Given the description of an element on the screen output the (x, y) to click on. 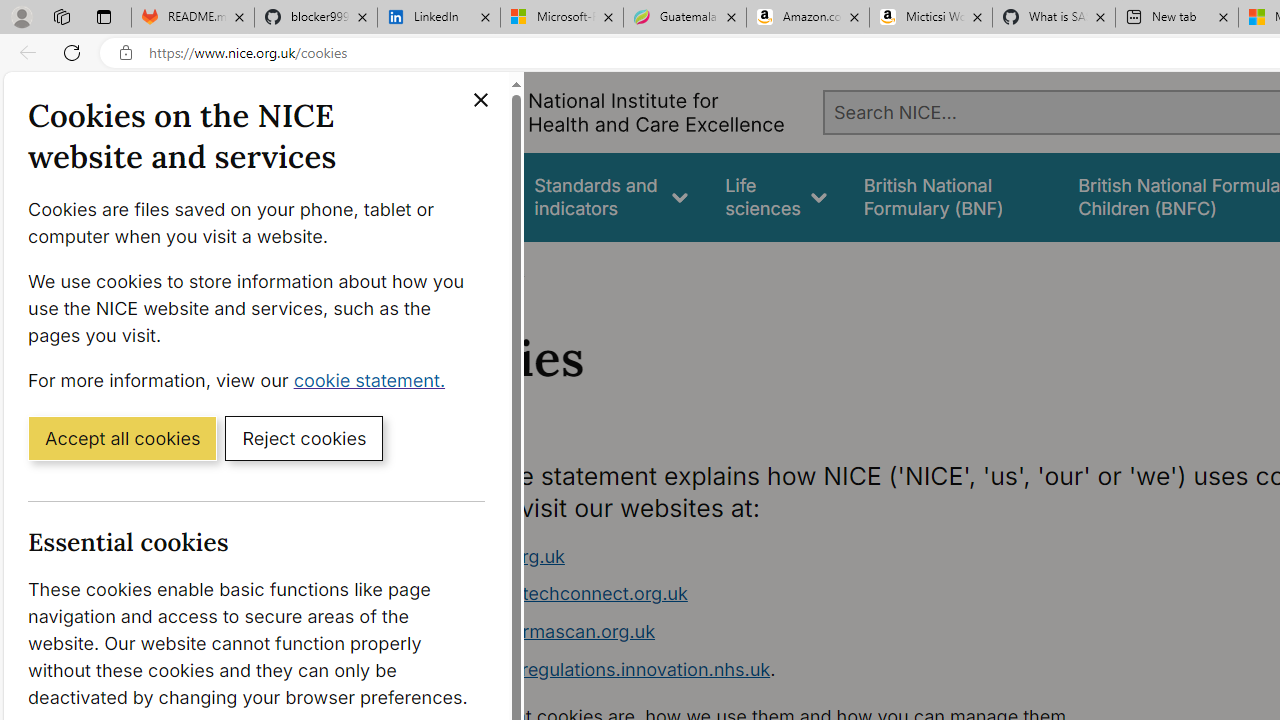
www.nice.org.uk (796, 556)
www.healthtechconnect.org.uk (796, 594)
www.healthtechconnect.org.uk (554, 593)
www.nice.org.uk (492, 556)
Close cookie banner (480, 99)
